Given the description of an element on the screen output the (x, y) to click on. 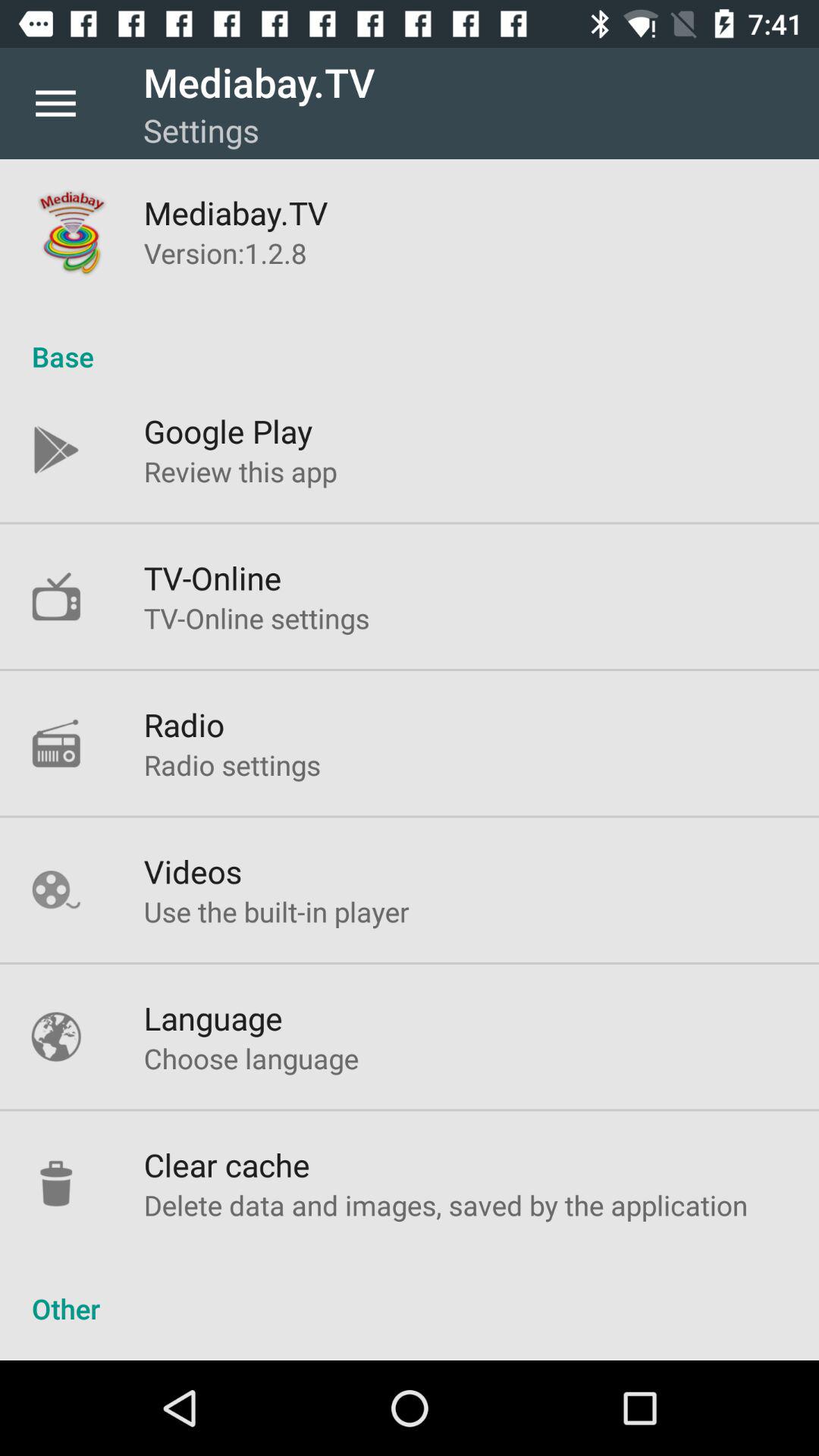
open the review this app icon (240, 471)
